Given the description of an element on the screen output the (x, y) to click on. 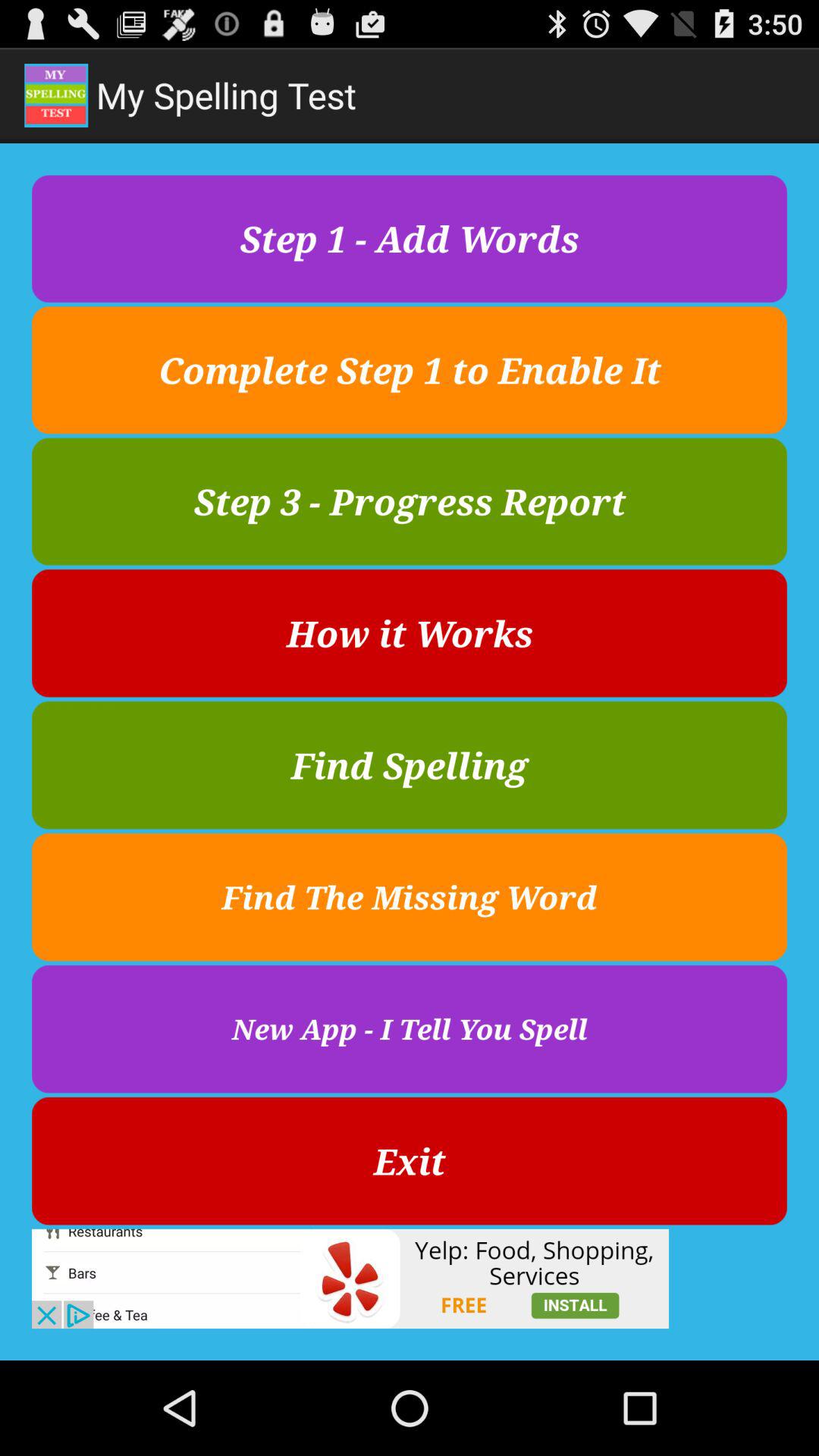
click for advertisement (349, 1278)
